Given the description of an element on the screen output the (x, y) to click on. 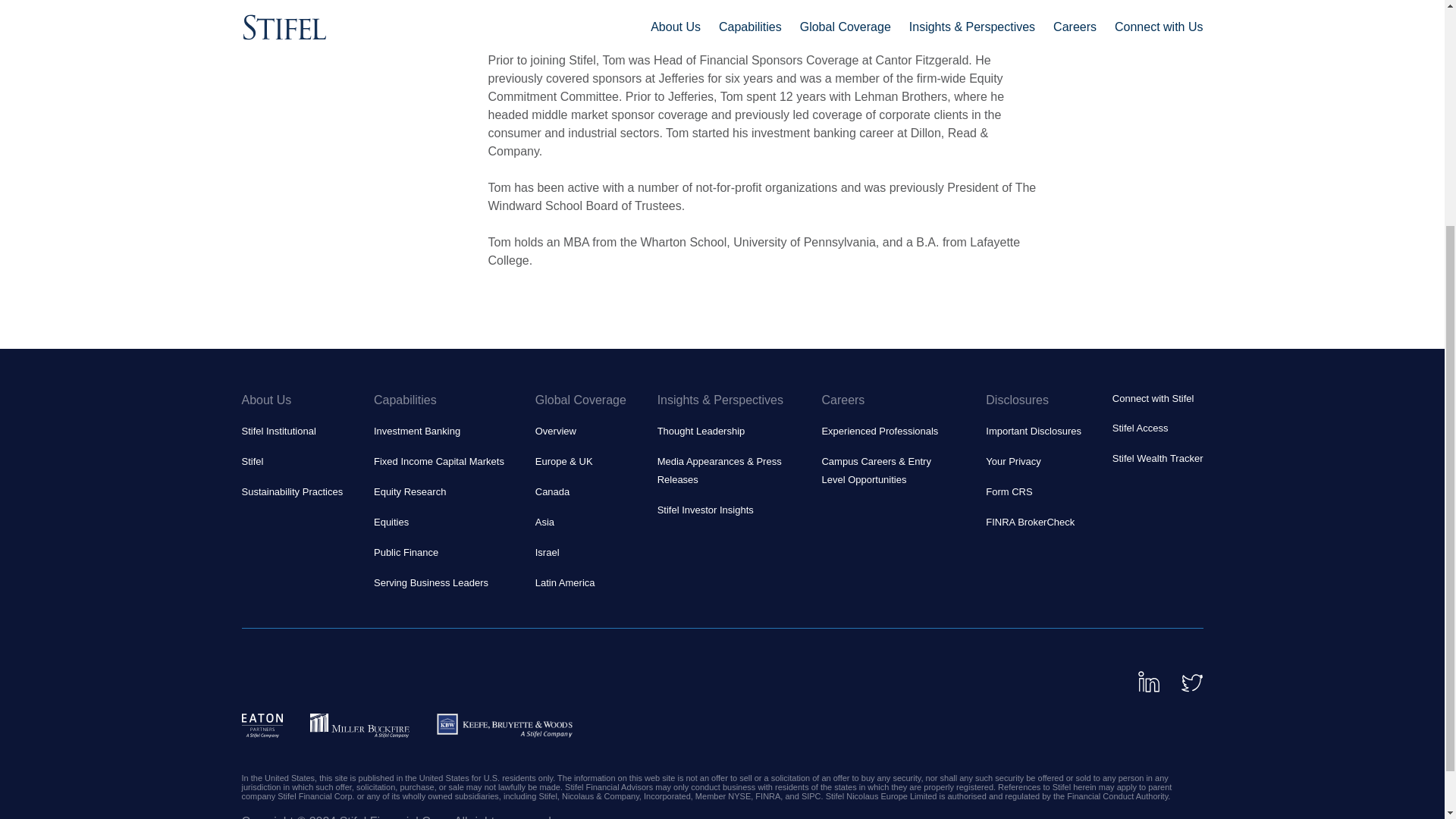
Sustainability Practices (291, 491)
Equity Research (409, 491)
Stifel (252, 460)
Capabilities (438, 400)
Fixed Income Capital Markets (438, 460)
Investment Banking (417, 430)
About Us (291, 400)
Stifel Institutional (278, 430)
